Given the description of an element on the screen output the (x, y) to click on. 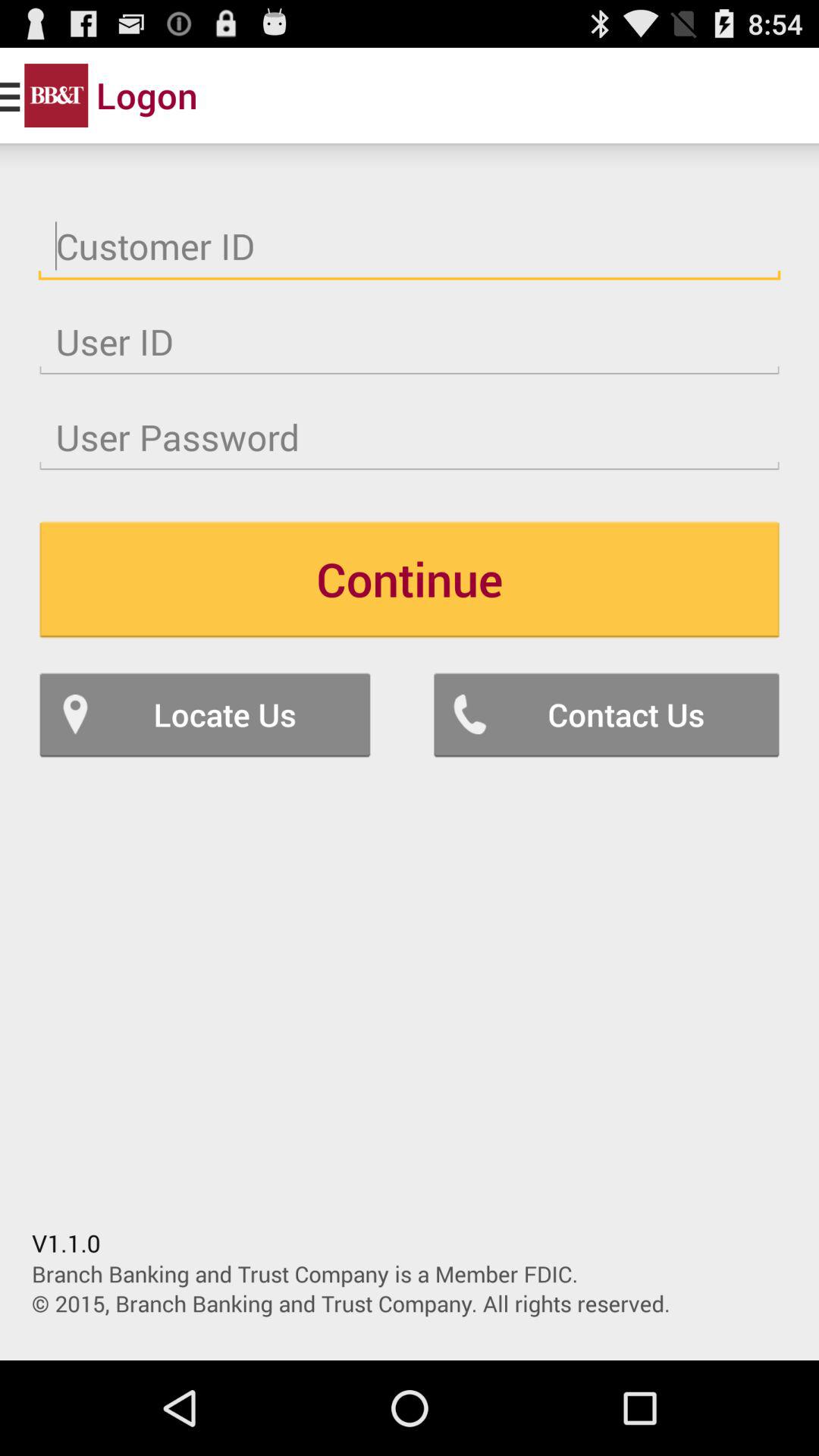
launch the button above locate us item (409, 578)
